Given the description of an element on the screen output the (x, y) to click on. 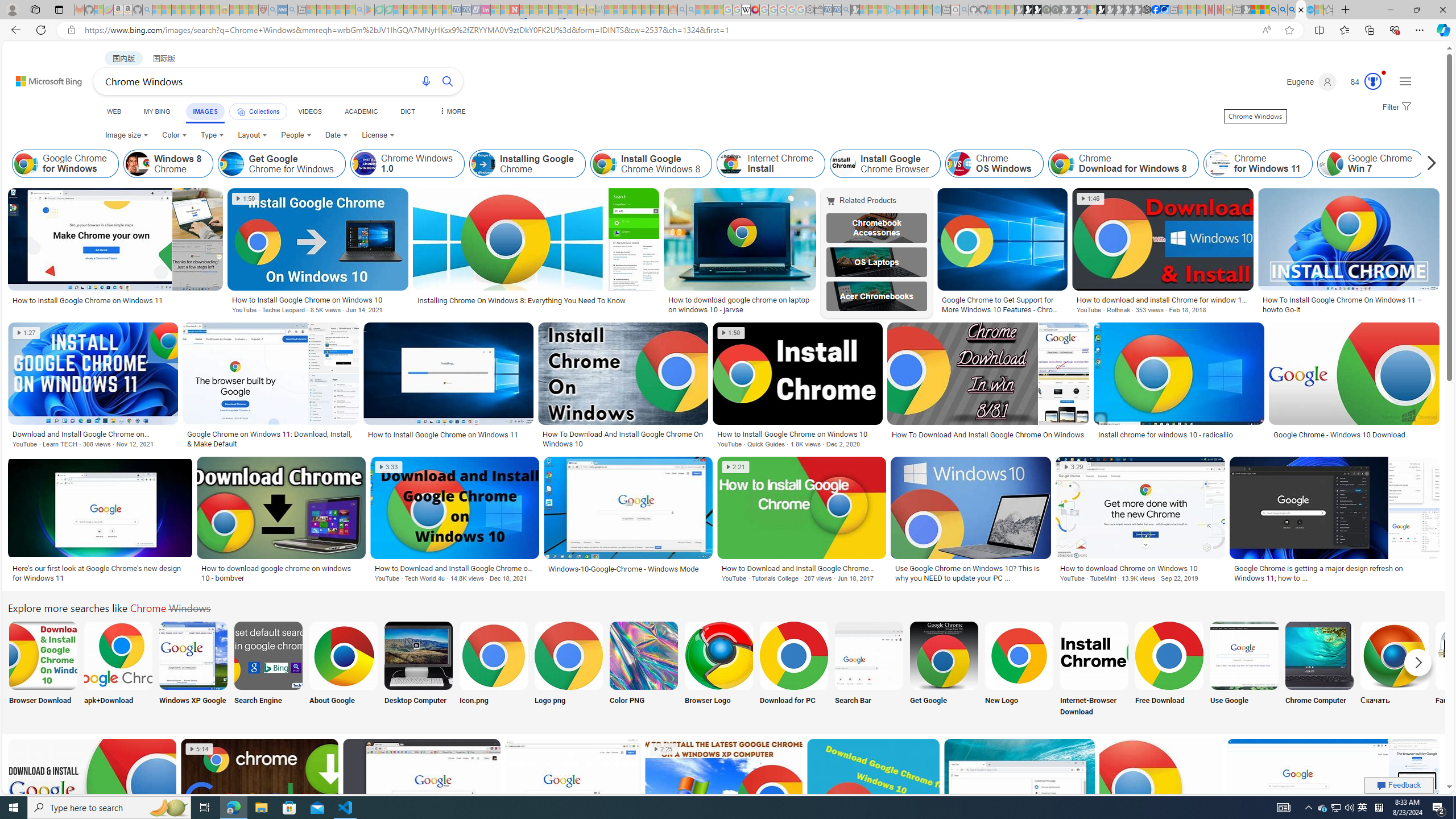
Chromebook Accessories (877, 227)
Favorites - Sleeping (1328, 9)
New Logo (1018, 669)
Search Engine (268, 669)
VIDEOS (310, 111)
Back to Bing search (41, 78)
Wallet - Sleeping (818, 9)
